Given the description of an element on the screen output the (x, y) to click on. 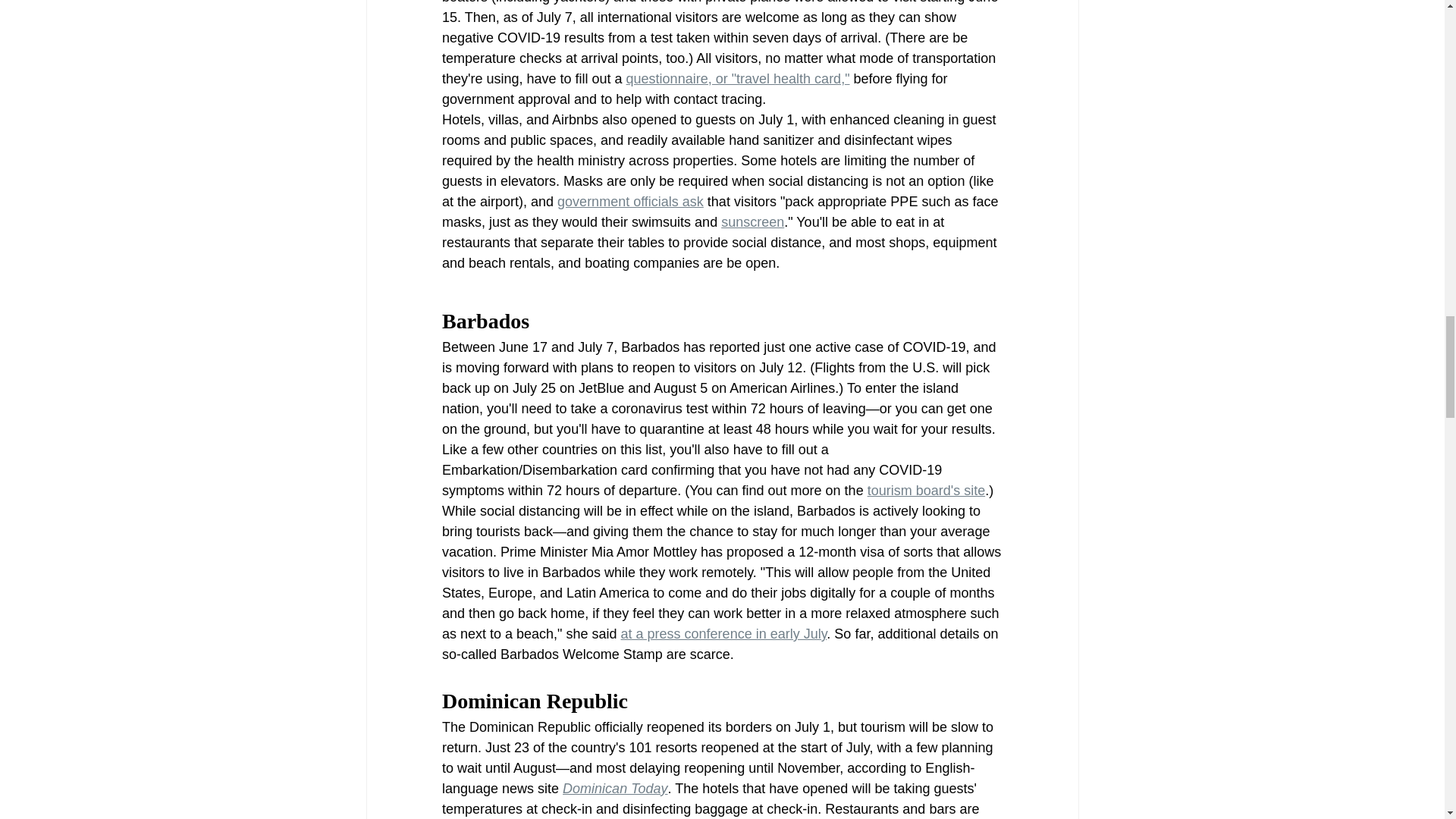
questionnaire, or "travel health card," (737, 78)
tourism board's site (925, 490)
government officials ask (630, 201)
sunscreen (752, 222)
at a press conference in early July (723, 633)
Dominican Today (614, 788)
